Given the description of an element on the screen output the (x, y) to click on. 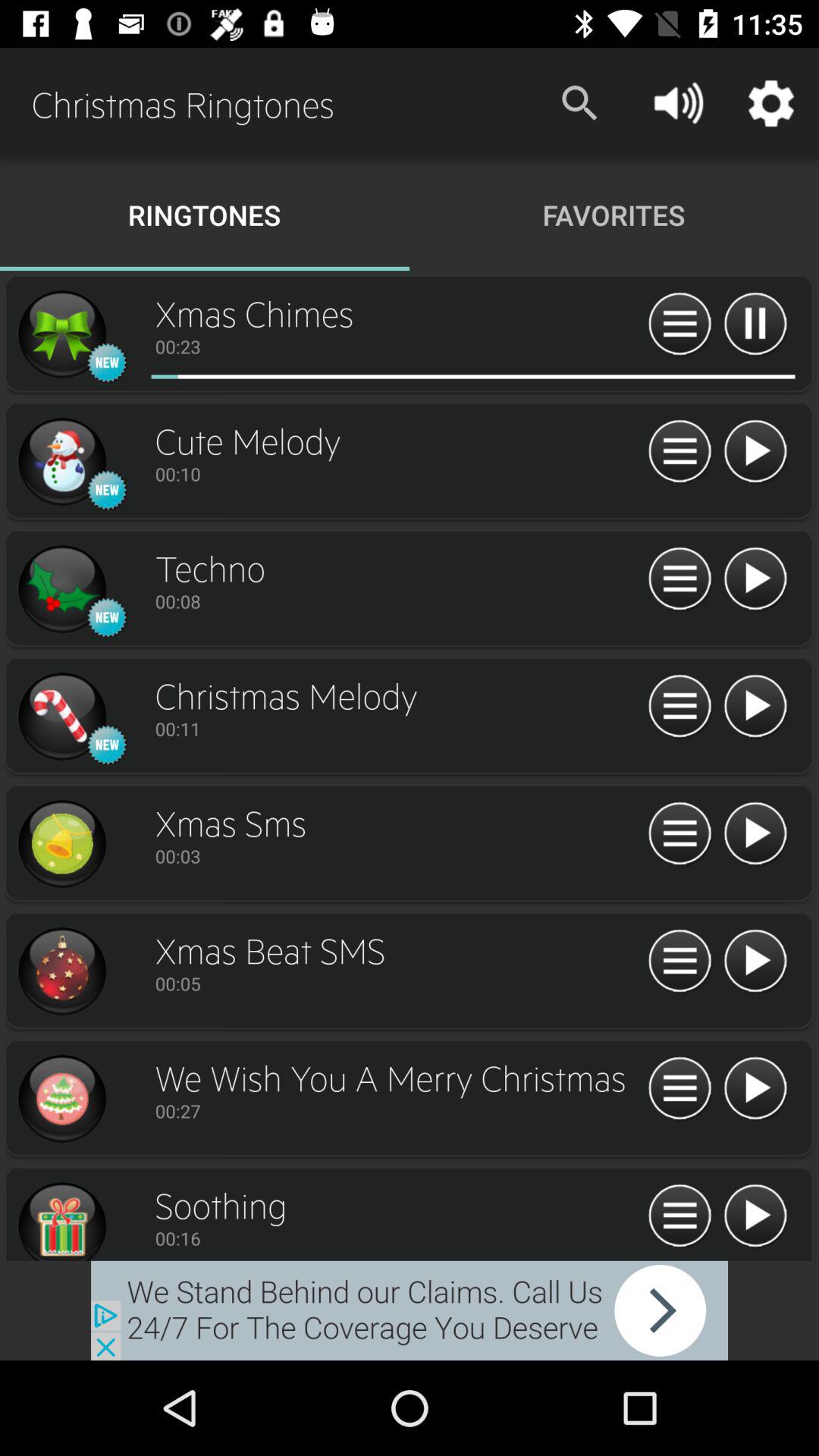
go to costumes (679, 1216)
